Given the description of an element on the screen output the (x, y) to click on. 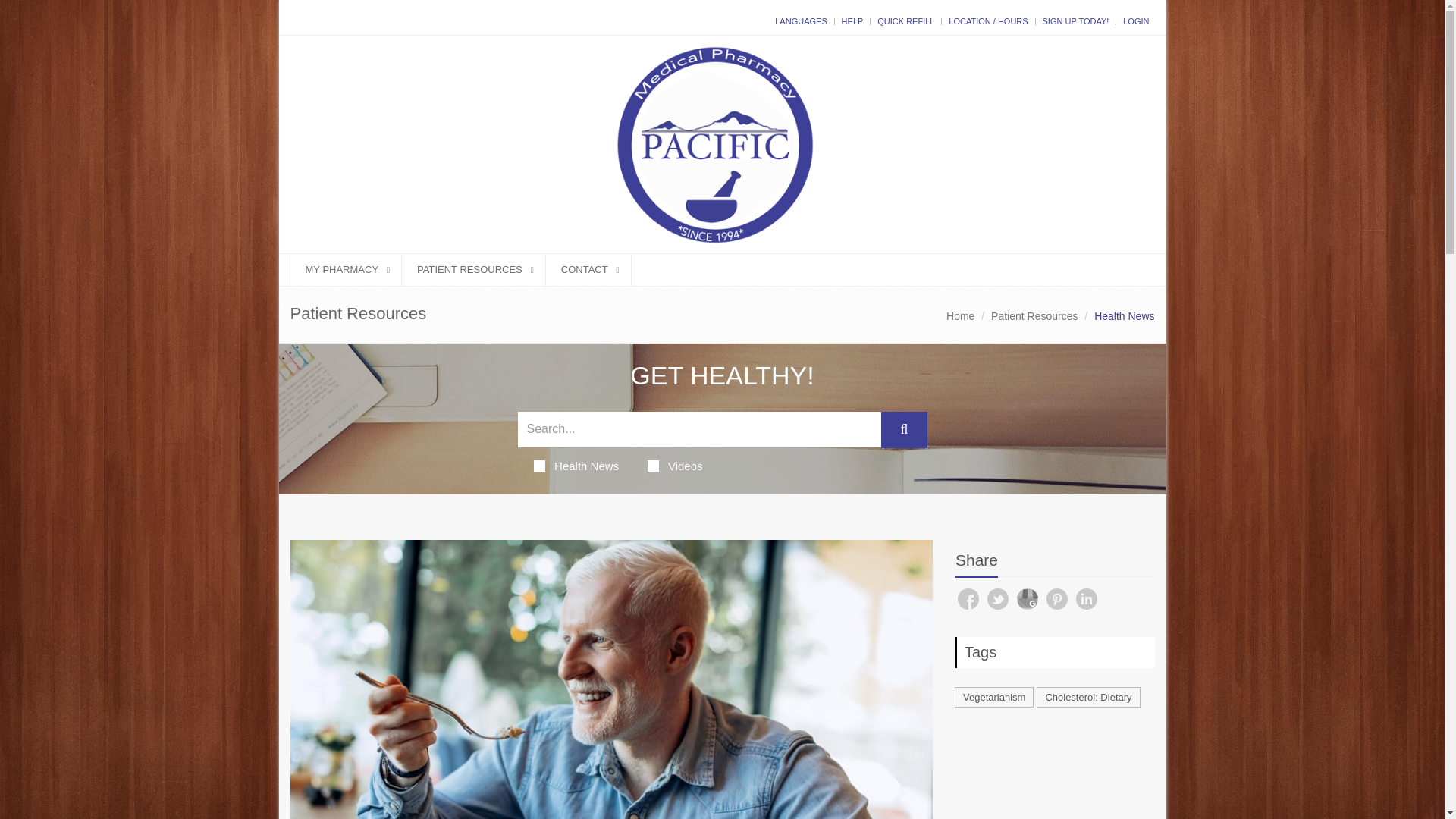
LANGUAGES (800, 20)
HELP (852, 20)
MY PHARMACY (345, 269)
PATIENT RESOURCES (472, 269)
CONTACT (588, 269)
